Given the description of an element on the screen output the (x, y) to click on. 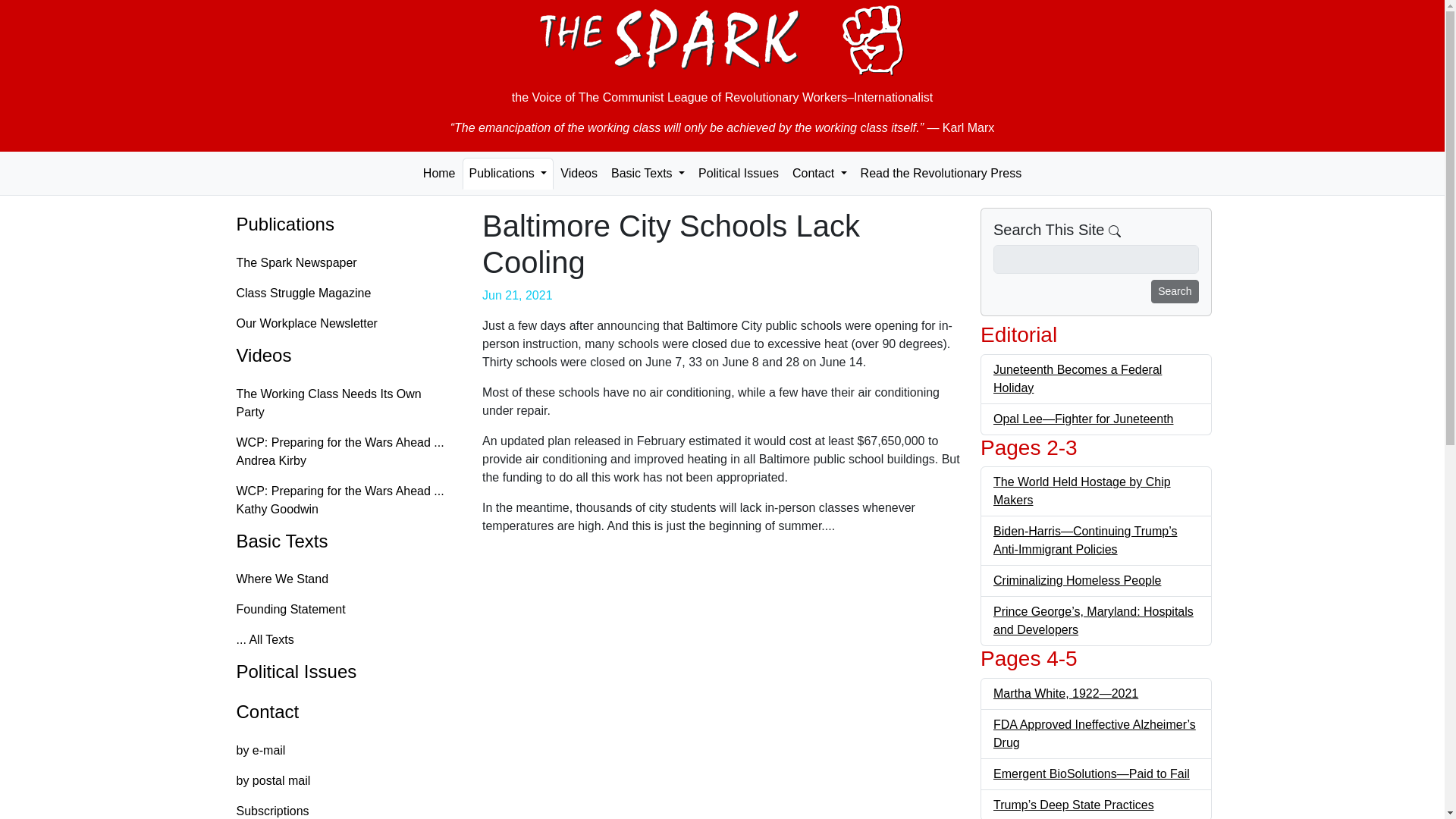
Criminalizing Homeless People (1076, 580)
Where We Stand (344, 579)
Contact (344, 712)
Contact (819, 173)
Basic Texts (647, 173)
Juneteenth Becomes a Federal Holiday (1076, 378)
Publications (508, 173)
Read the Revolutionary Press (941, 173)
Founding Statement (344, 609)
Juneteenth Becomes a Federal Holiday (1076, 378)
Search (1174, 291)
Postal mail addresses (344, 780)
Political Issues (738, 173)
The Spark Newspaper (344, 263)
Our Workplace Newsletter (344, 323)
